Given the description of an element on the screen output the (x, y) to click on. 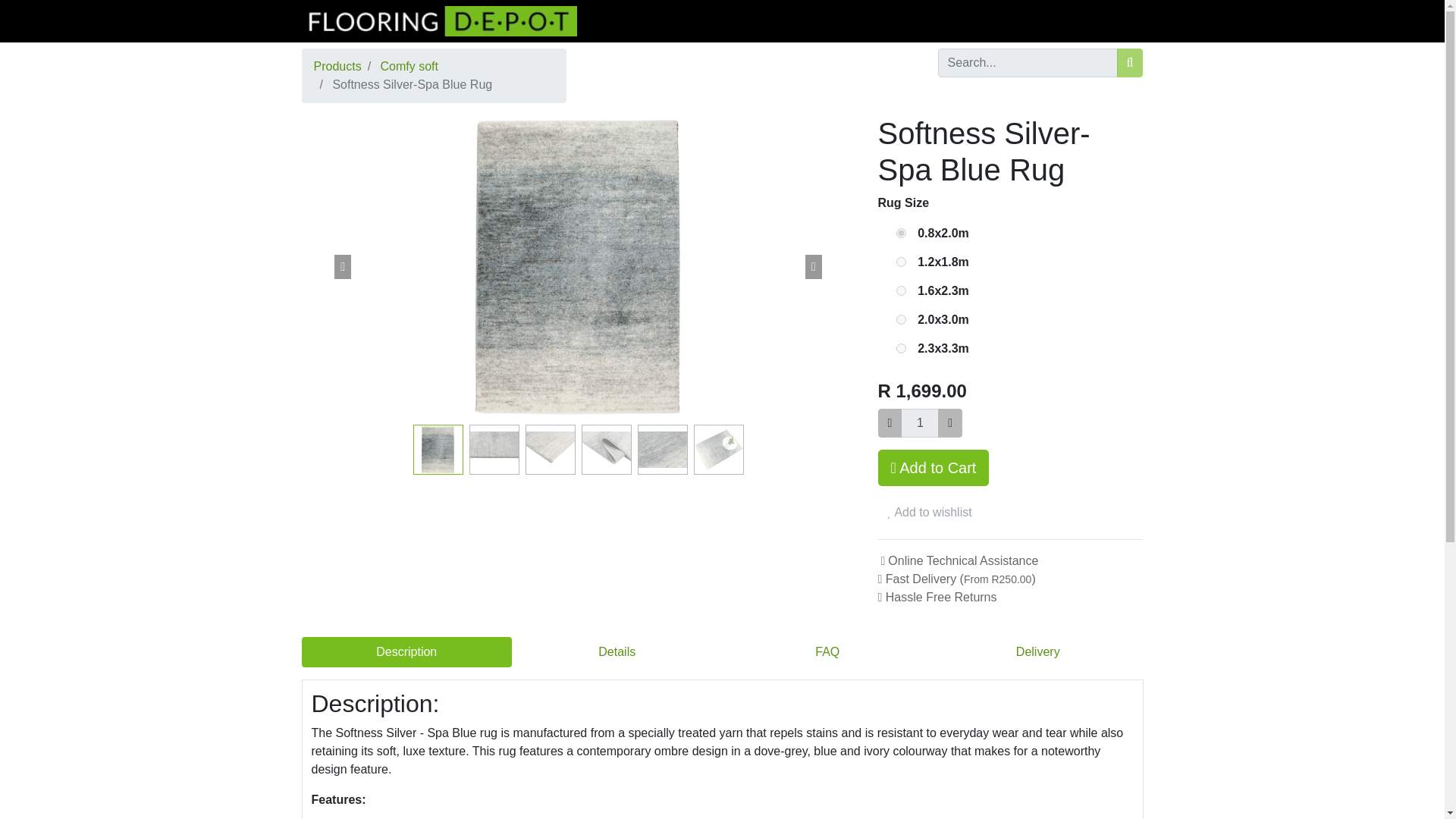
508 (900, 290)
Add to Cart (933, 467)
628 (900, 233)
1 (920, 422)
Flooring Depot (439, 20)
Description (406, 652)
FAQ (827, 652)
Comfy soft (409, 65)
Delivery (1037, 652)
Details (617, 652)
Search (1129, 62)
Add to wishlist (929, 512)
507 (900, 261)
509 (900, 319)
Products (337, 65)
